Given the description of an element on the screen output the (x, y) to click on. 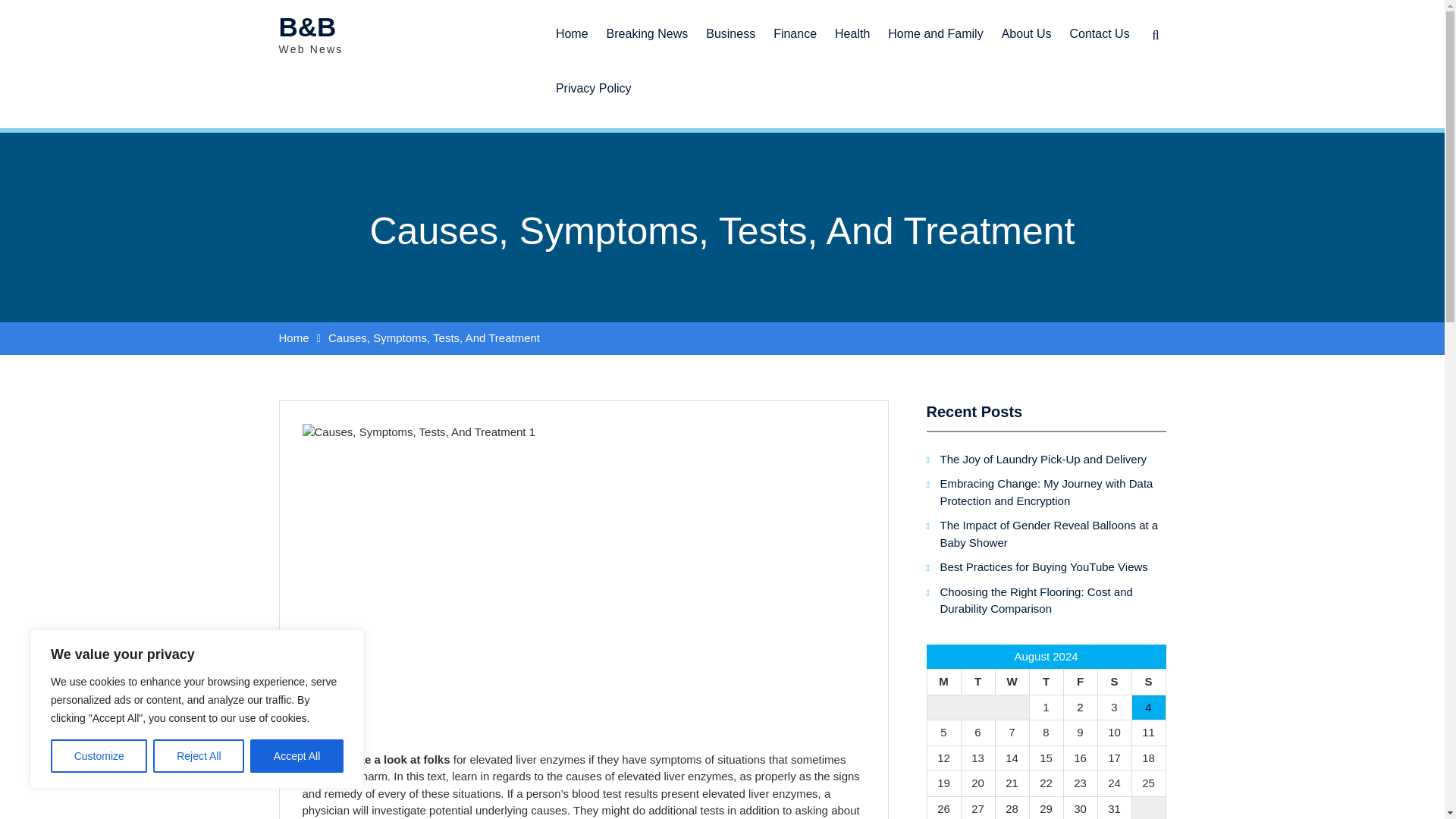
Finance (794, 27)
Breaking News (646, 27)
Accept All (296, 756)
Privacy Policy (593, 81)
About Us (1026, 27)
Home (571, 27)
Reject All (198, 756)
Sunday (1148, 681)
Contact Us (1098, 27)
Home and Family (935, 27)
